Given the description of an element on the screen output the (x, y) to click on. 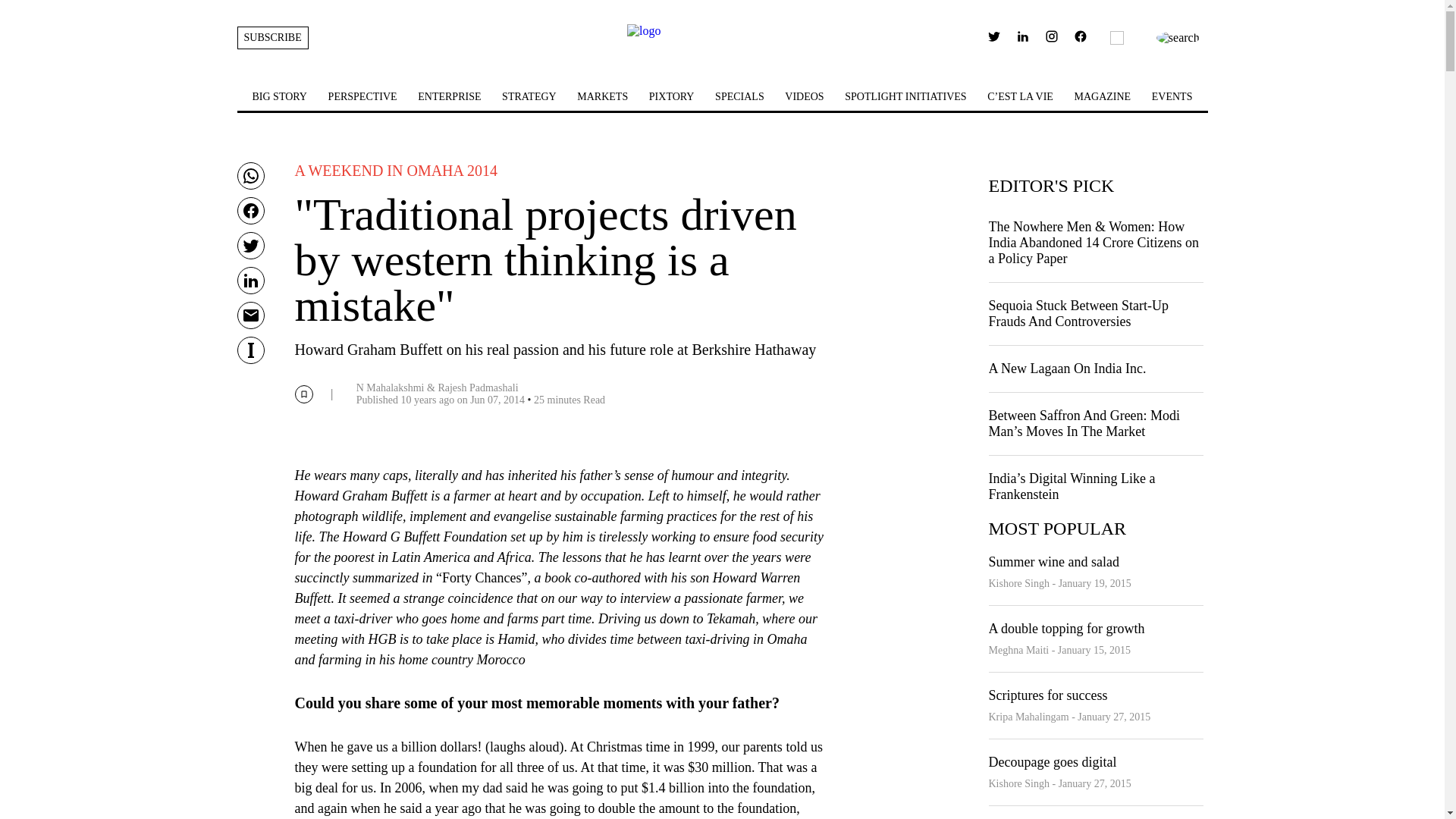
linkedin (1022, 36)
SPOTLIGHT INITIATIVES (905, 96)
PIXTORY (671, 96)
instagram (1050, 38)
EVENTS (1171, 96)
User Profile (1079, 38)
MARKETS (601, 96)
twitter (994, 38)
A WEEKEND IN OMAHA 2014 (395, 171)
SPECIALS (739, 96)
